Given the description of an element on the screen output the (x, y) to click on. 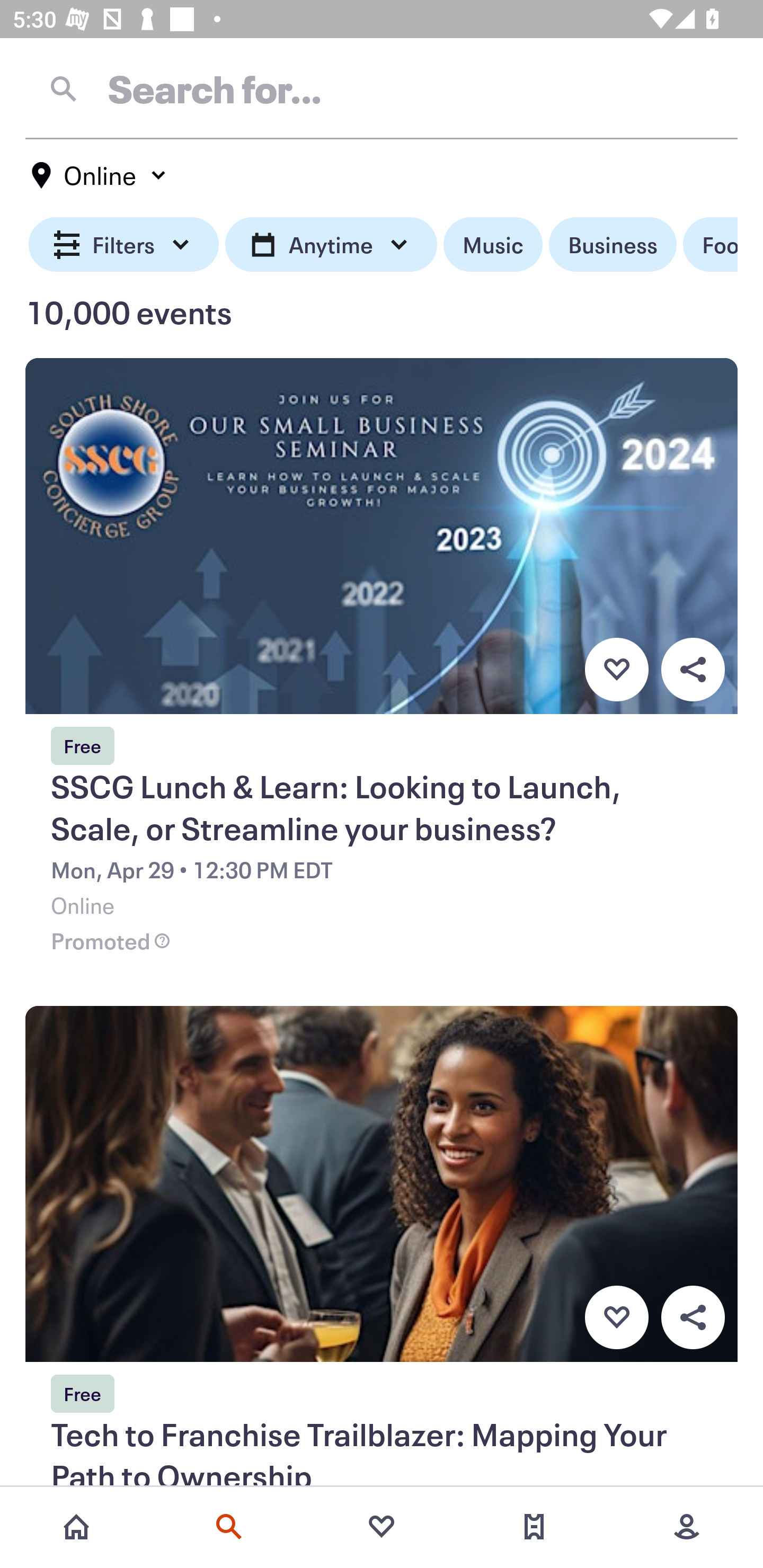
Search for… (381, 88)
Online (99, 175)
Filters (123, 244)
Anytime (331, 244)
Music (492, 244)
Business (612, 244)
Favorite button (616, 669)
Overflow menu button (692, 669)
Favorite button (616, 1317)
Overflow menu button (692, 1317)
Home (76, 1526)
Search events (228, 1526)
Favorites (381, 1526)
Tickets (533, 1526)
More (686, 1526)
